Given the description of an element on the screen output the (x, y) to click on. 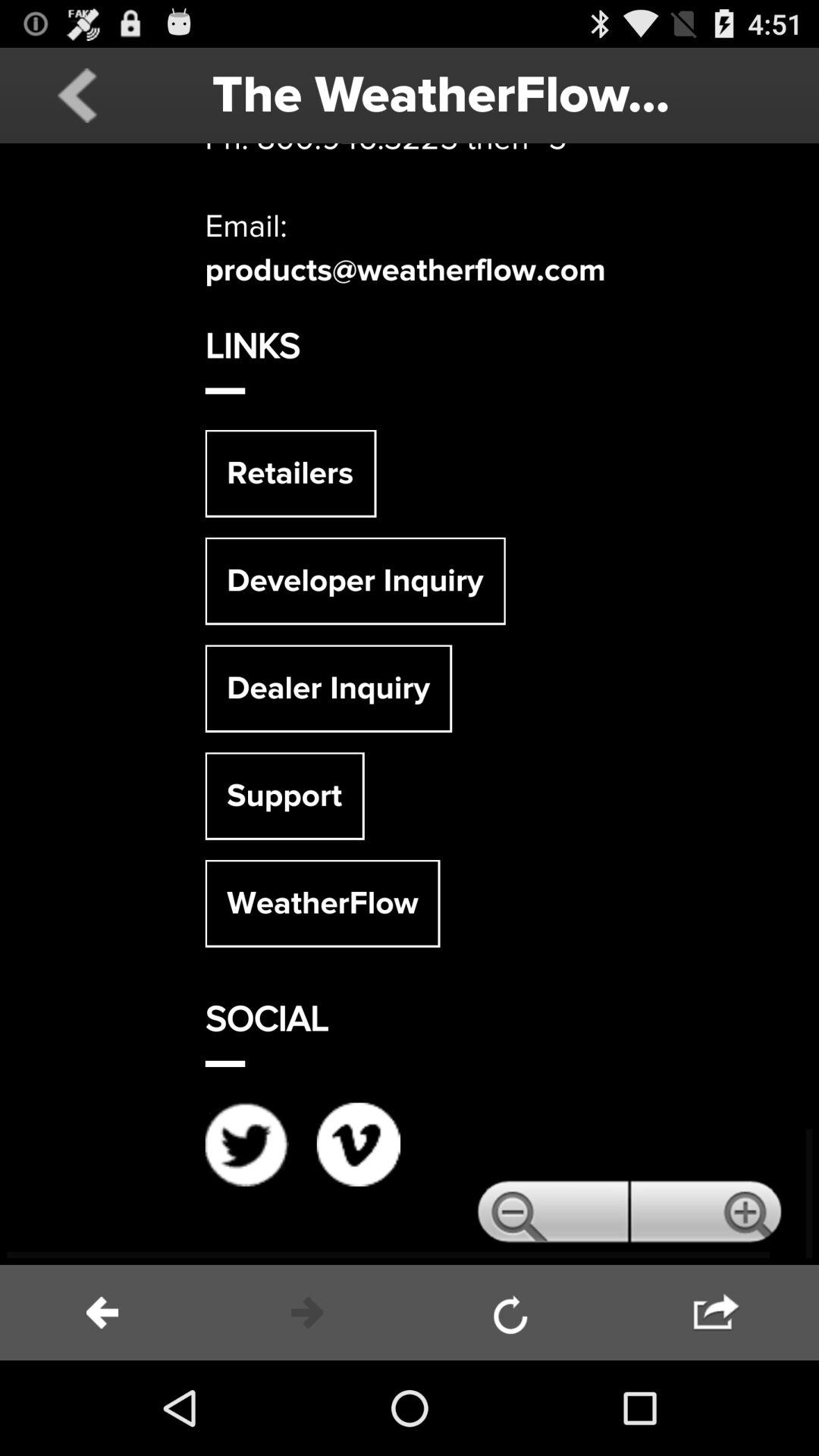
app screen (409, 703)
